Given the description of an element on the screen output the (x, y) to click on. 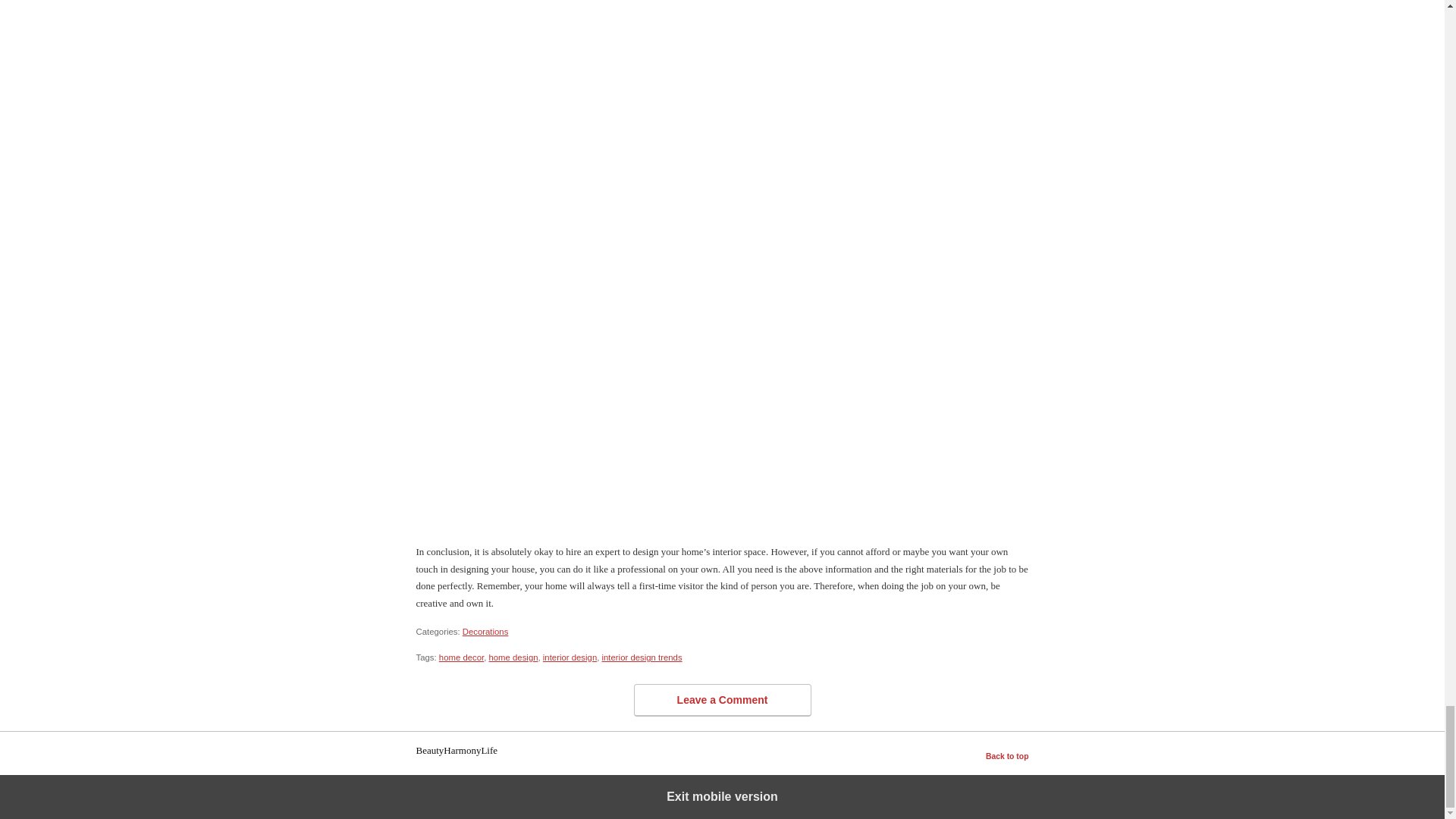
home design (512, 656)
Decorations (485, 631)
interior design trends (642, 656)
interior design (569, 656)
home decor (461, 656)
Back to top (1007, 756)
Leave a Comment (721, 699)
